Given the description of an element on the screen output the (x, y) to click on. 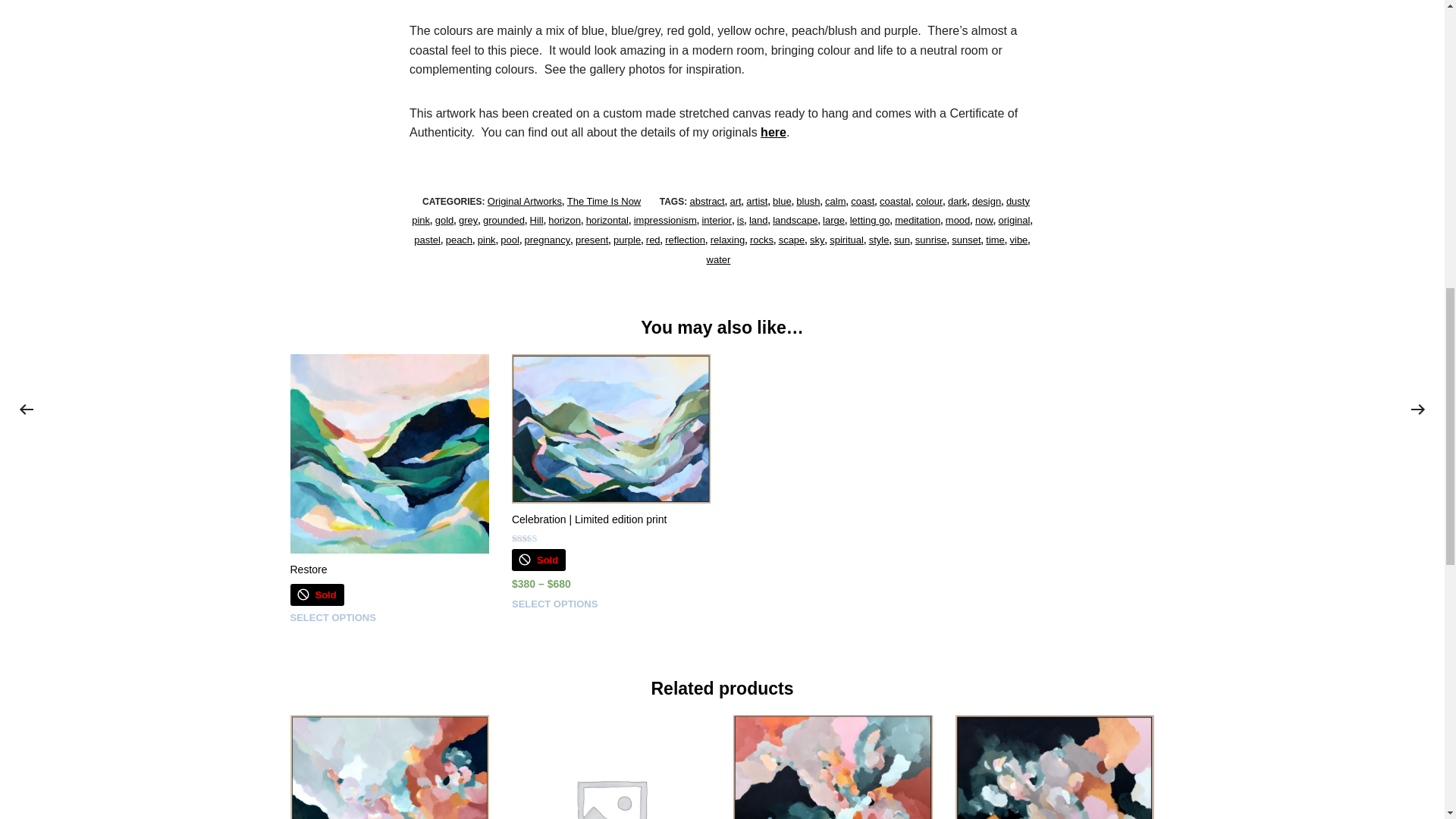
abstract (705, 201)
The Time Is Now (604, 201)
blue (782, 201)
artist (756, 201)
Original Artworks (524, 201)
art (735, 201)
here (773, 132)
